Given the description of an element on the screen output the (x, y) to click on. 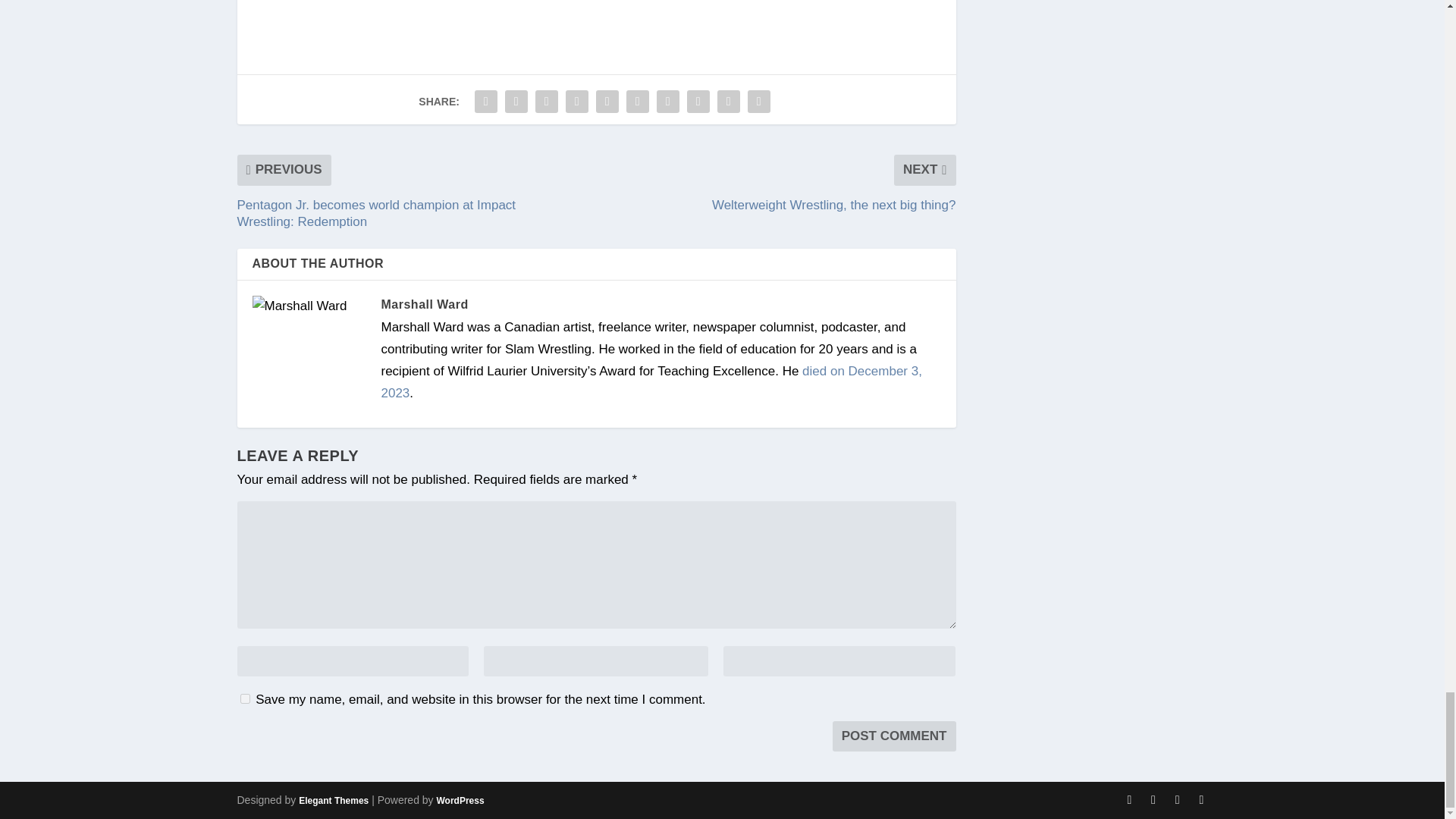
View all posts by Marshall Ward (423, 304)
Post Comment (894, 736)
yes (244, 698)
